Given the description of an element on the screen output the (x, y) to click on. 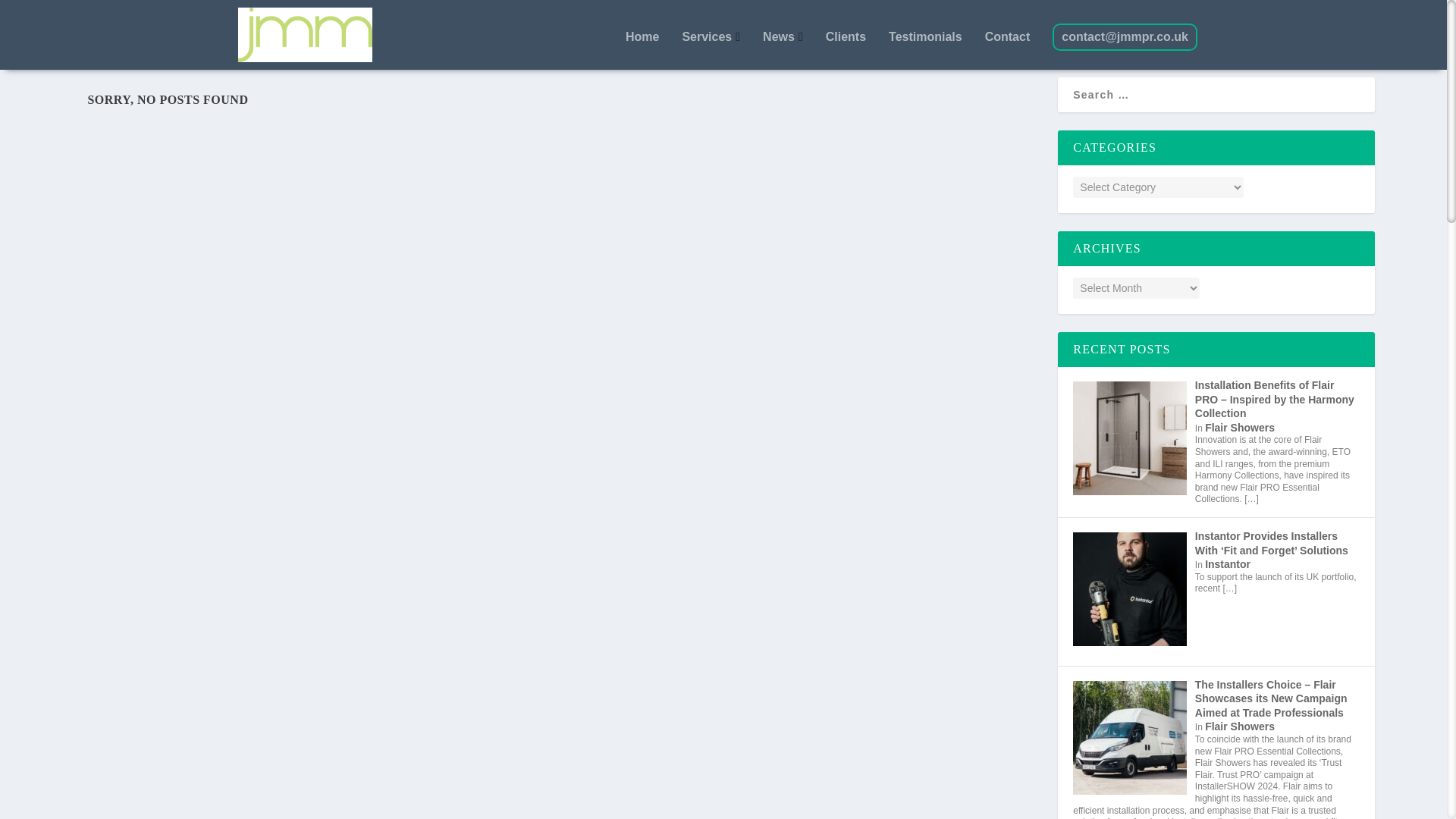
Clients (845, 37)
Testimonials (925, 37)
News (782, 37)
Home (642, 37)
Services (710, 37)
Contact (1007, 37)
